Given the description of an element on the screen output the (x, y) to click on. 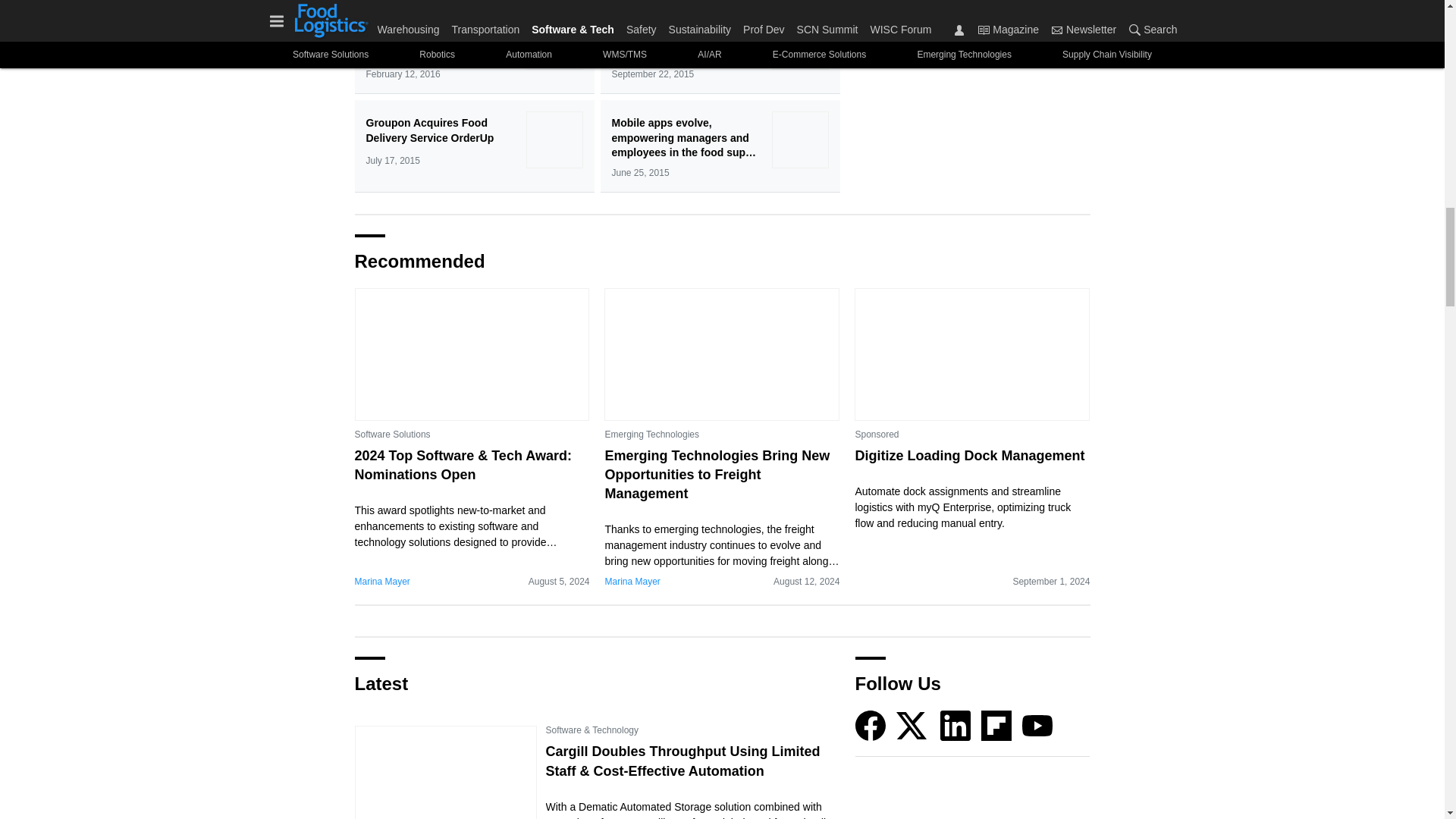
LinkedIn icon (955, 725)
Facebook icon (870, 725)
Twitter X icon (911, 725)
YouTube icon (1037, 725)
Flipboard icon (996, 725)
